Given the description of an element on the screen output the (x, y) to click on. 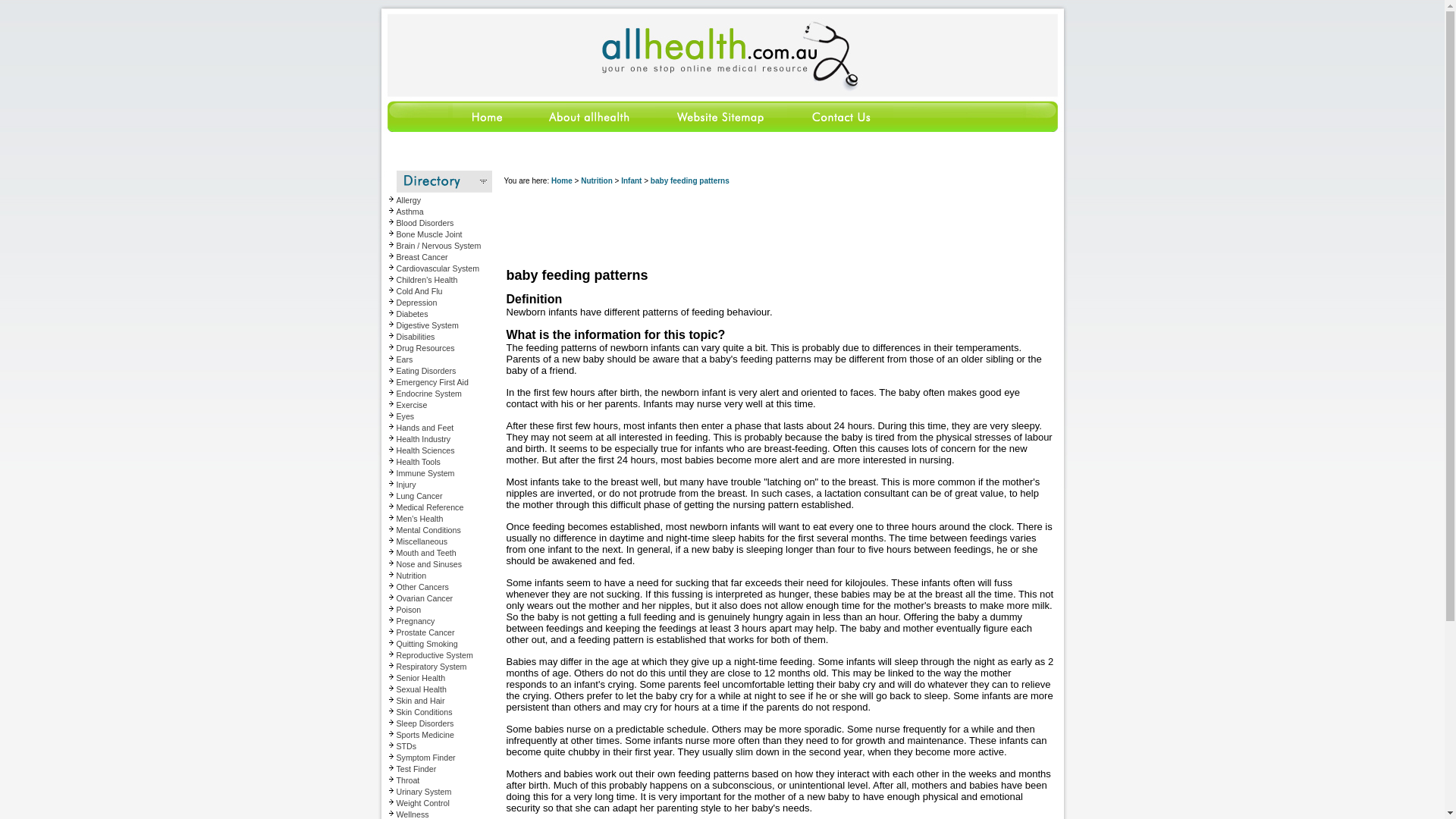
Home (561, 180)
Website Sitemap (719, 129)
Infant (631, 180)
Home (452, 129)
Contact Us (840, 129)
About AllHealth (589, 129)
baby feeding patterns (689, 180)
Nutrition (596, 180)
